Given the description of an element on the screen output the (x, y) to click on. 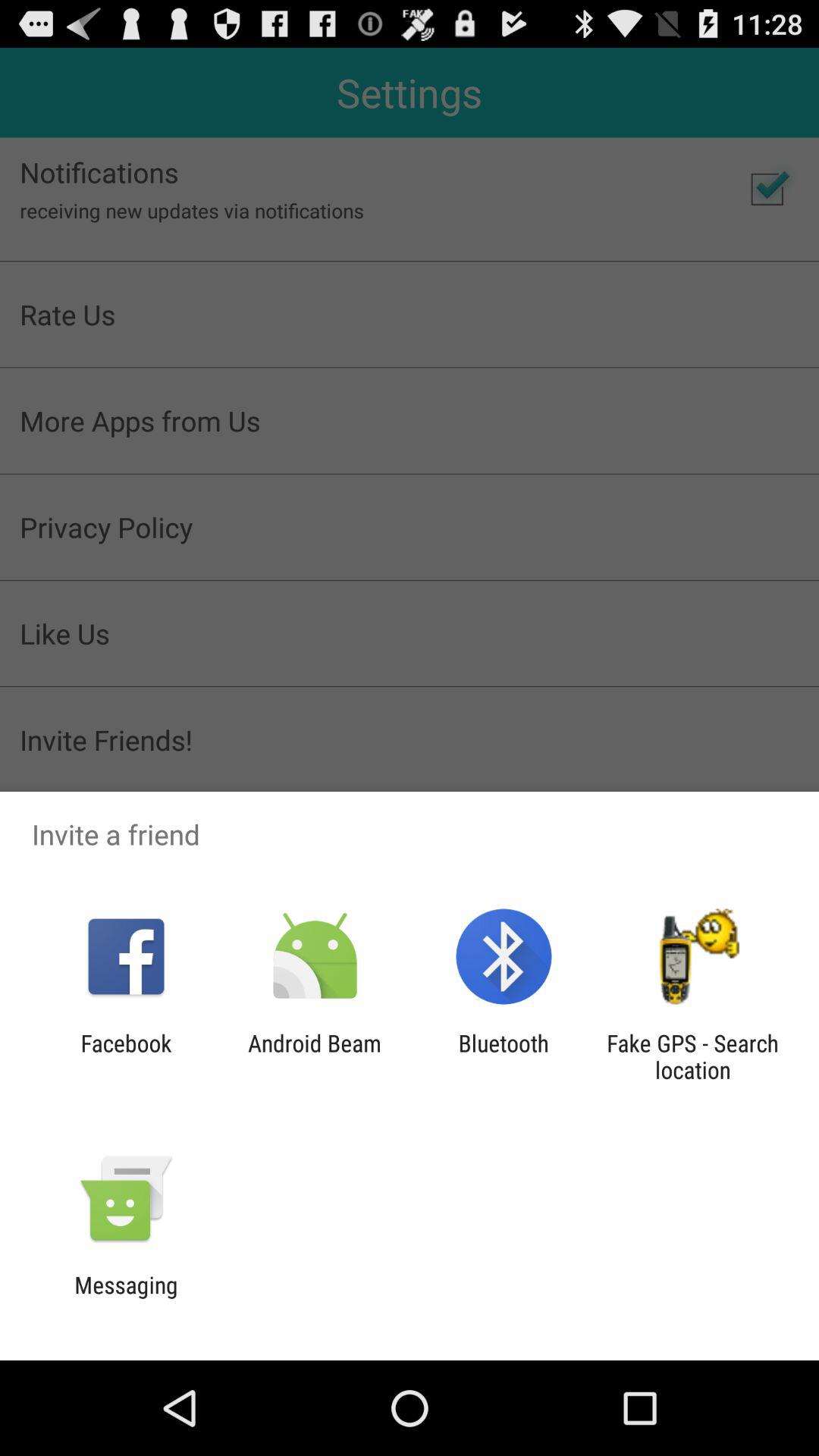
press the item next to the android beam item (503, 1056)
